Given the description of an element on the screen output the (x, y) to click on. 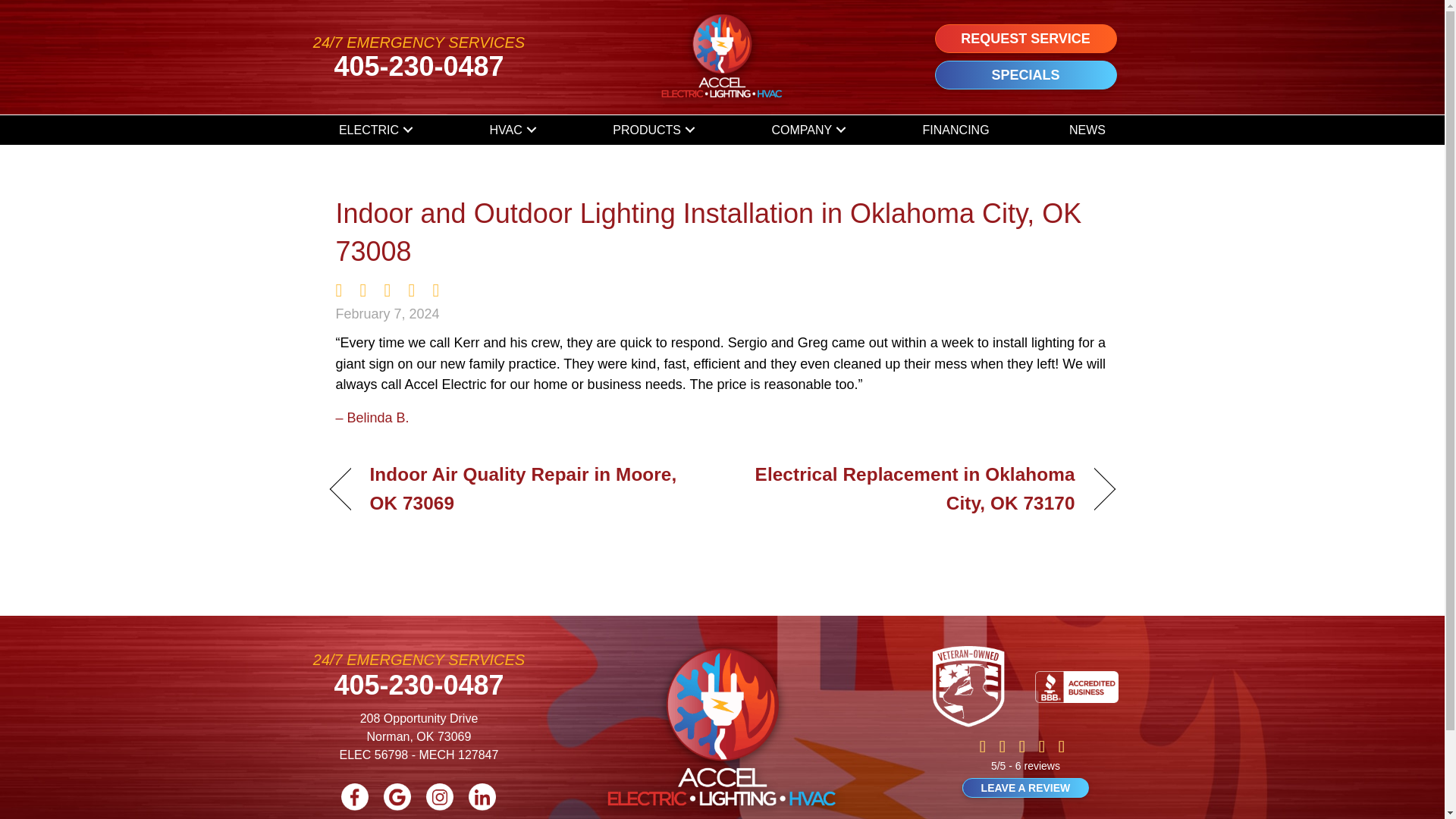
405-230-0487 (418, 65)
COMPANY (806, 129)
PRODUCTS (651, 129)
SPECIALS (1025, 74)
405-230-0487 (418, 685)
logo (721, 726)
ELECTRIC (373, 129)
405-230-0487 (418, 65)
HVAC (510, 129)
Logo (721, 57)
